Given the description of an element on the screen output the (x, y) to click on. 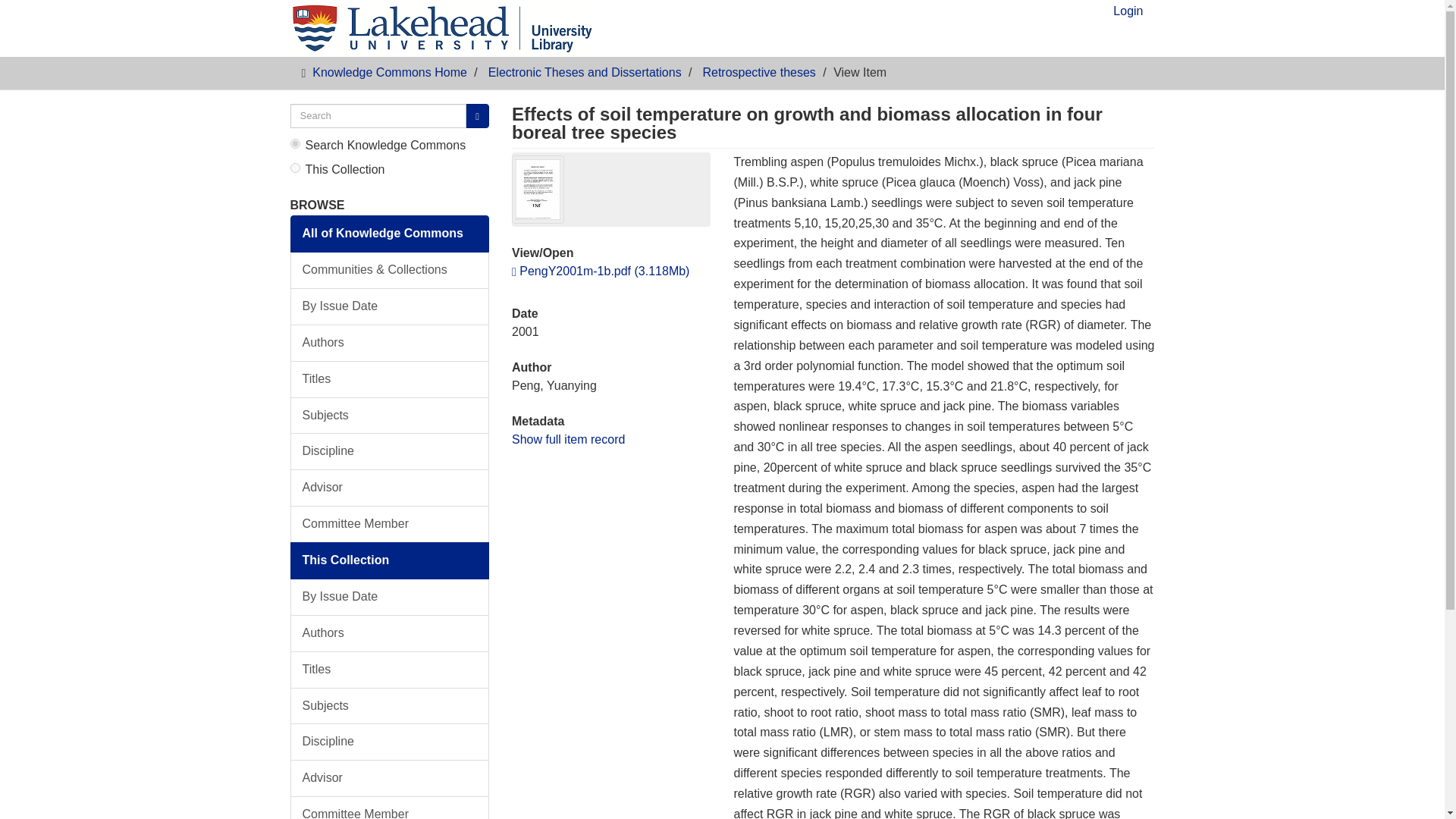
Retrospective theses (758, 72)
Committee Member (389, 524)
Titles (389, 669)
Go (477, 116)
Electronic Theses and Dissertations (584, 72)
Committee Member (389, 807)
Authors (389, 633)
Knowledge Commons Home (390, 72)
Authors (389, 342)
By Issue Date (389, 306)
